Given the description of an element on the screen output the (x, y) to click on. 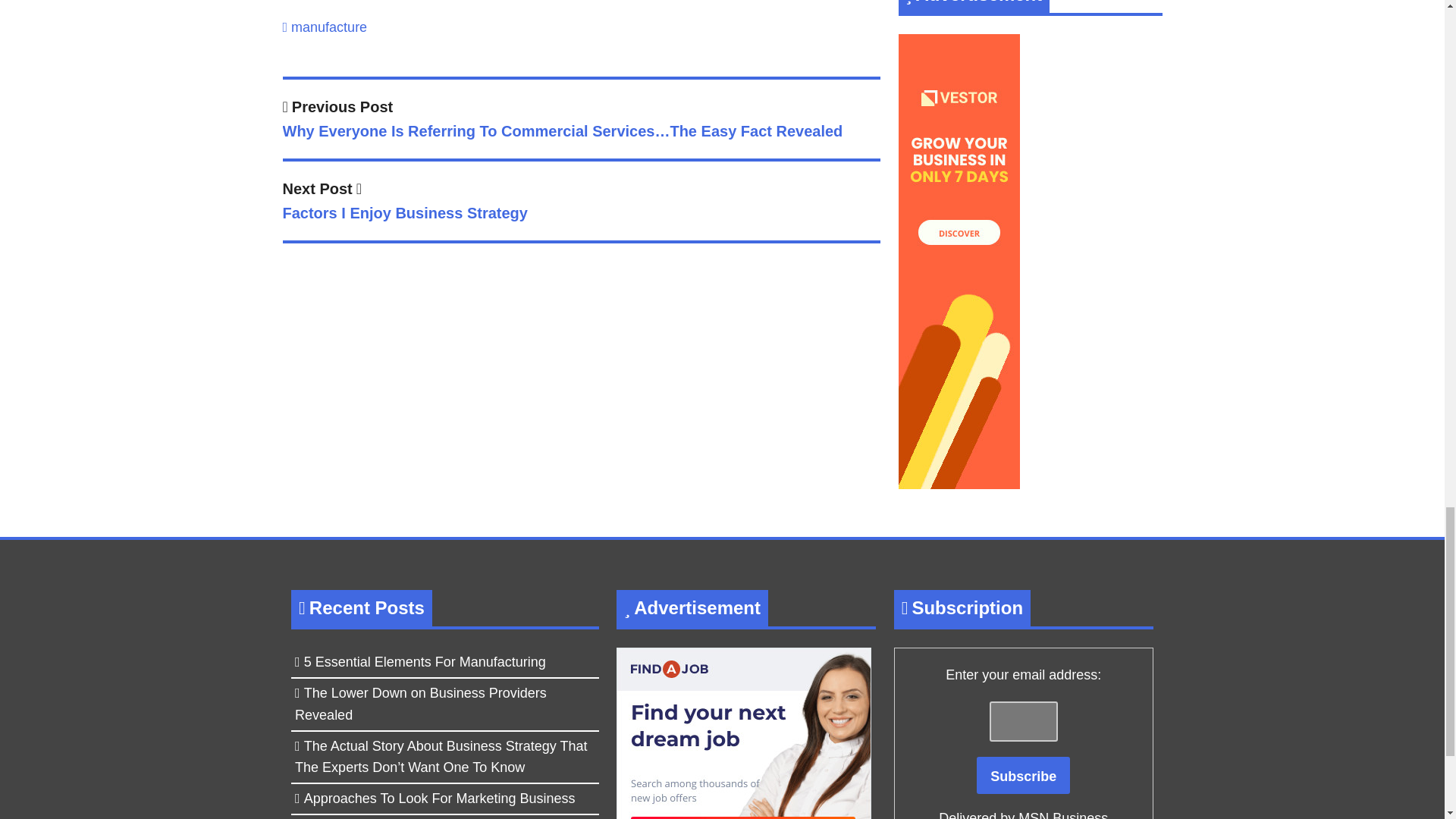
manufacture (328, 27)
Subscribe (581, 203)
